Given the description of an element on the screen output the (x, y) to click on. 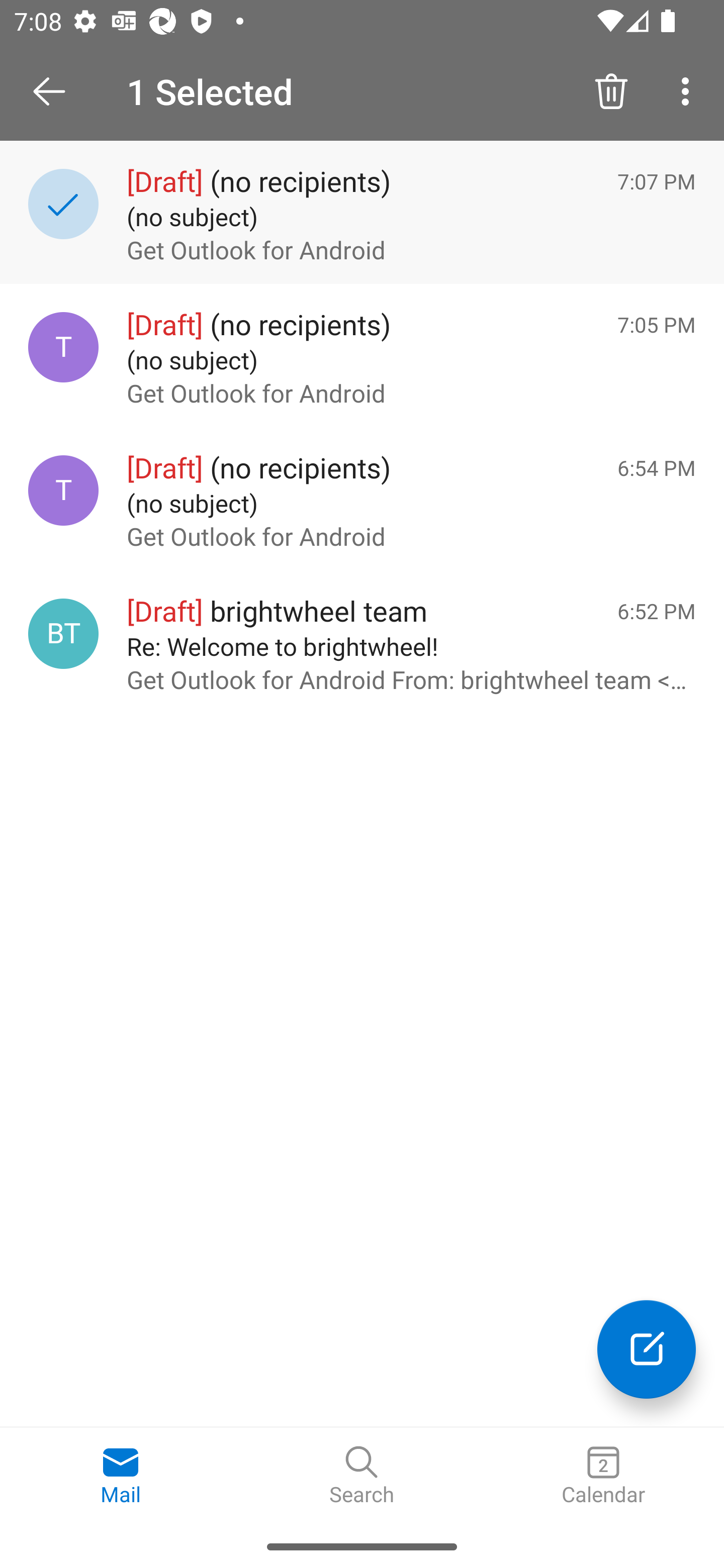
Delete (611, 90)
More options (688, 90)
Open Navigation Drawer (55, 91)
testappium001@outlook.com (63, 347)
testappium001@outlook.com (63, 489)
brightwheel team, testappium001@outlook.com (63, 633)
Compose (646, 1348)
Search (361, 1475)
Calendar (603, 1475)
